Given the description of an element on the screen output the (x, y) to click on. 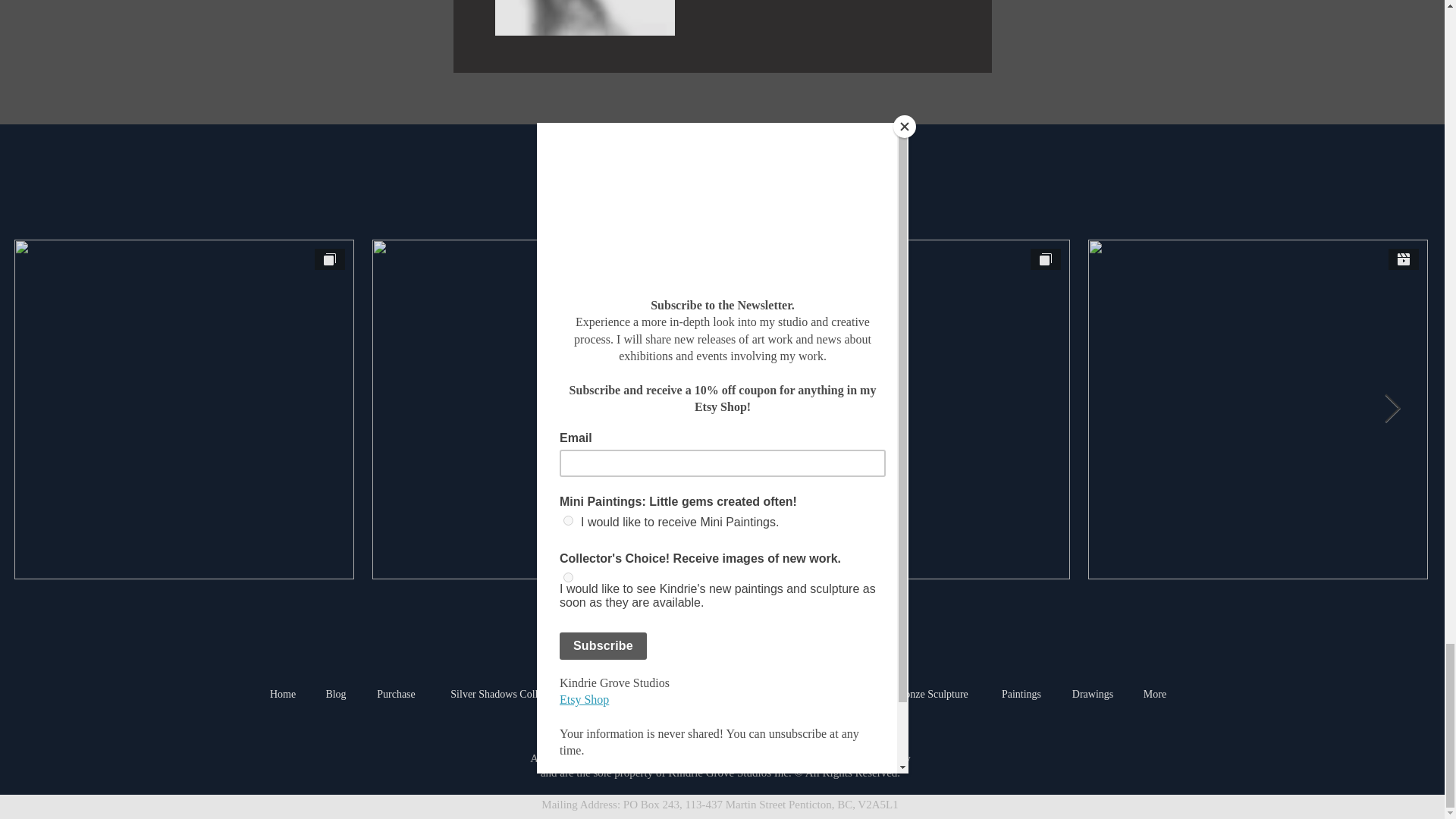
Giraffe-Drawing.jpg (584, 18)
